Given the description of an element on the screen output the (x, y) to click on. 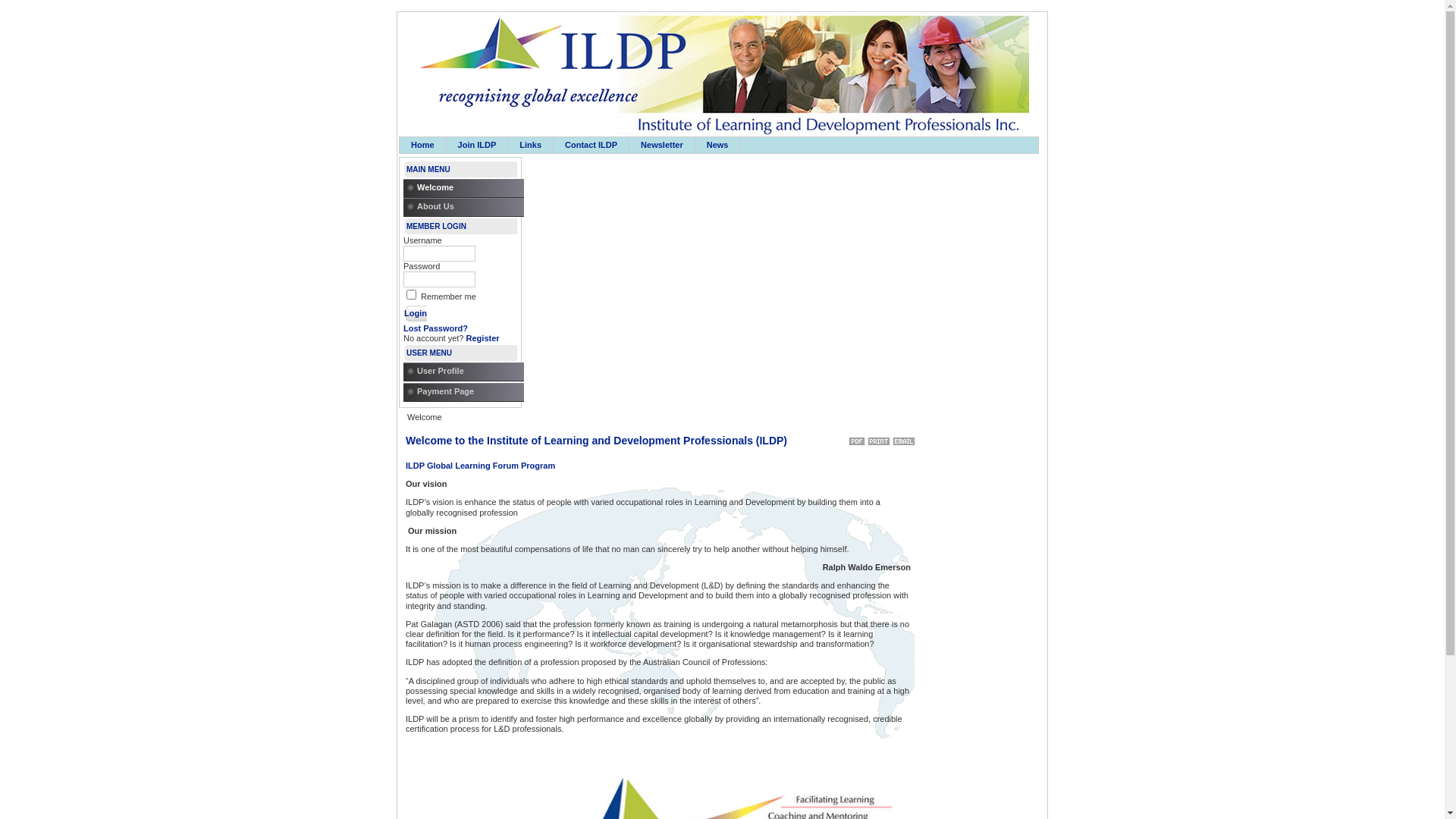
User Profile Element type: text (466, 371)
Home Element type: text (422, 145)
PDF Element type: hover (856, 437)
Login Element type: text (415, 313)
Register Element type: text (482, 337)
Print Element type: hover (878, 437)
Links Element type: text (530, 145)
ILDP Global Learning Forum Program Element type: text (480, 465)
Lost Password? Element type: text (435, 327)
Payment Page Element type: text (466, 391)
Join ILDP Element type: text (477, 145)
Newsletter Element type: text (661, 145)
Contact ILDP Element type: text (590, 145)
E-mail Element type: hover (903, 437)
News Element type: text (717, 145)
About Us Element type: text (466, 206)
Welcome Element type: text (466, 187)
